Given the description of an element on the screen output the (x, y) to click on. 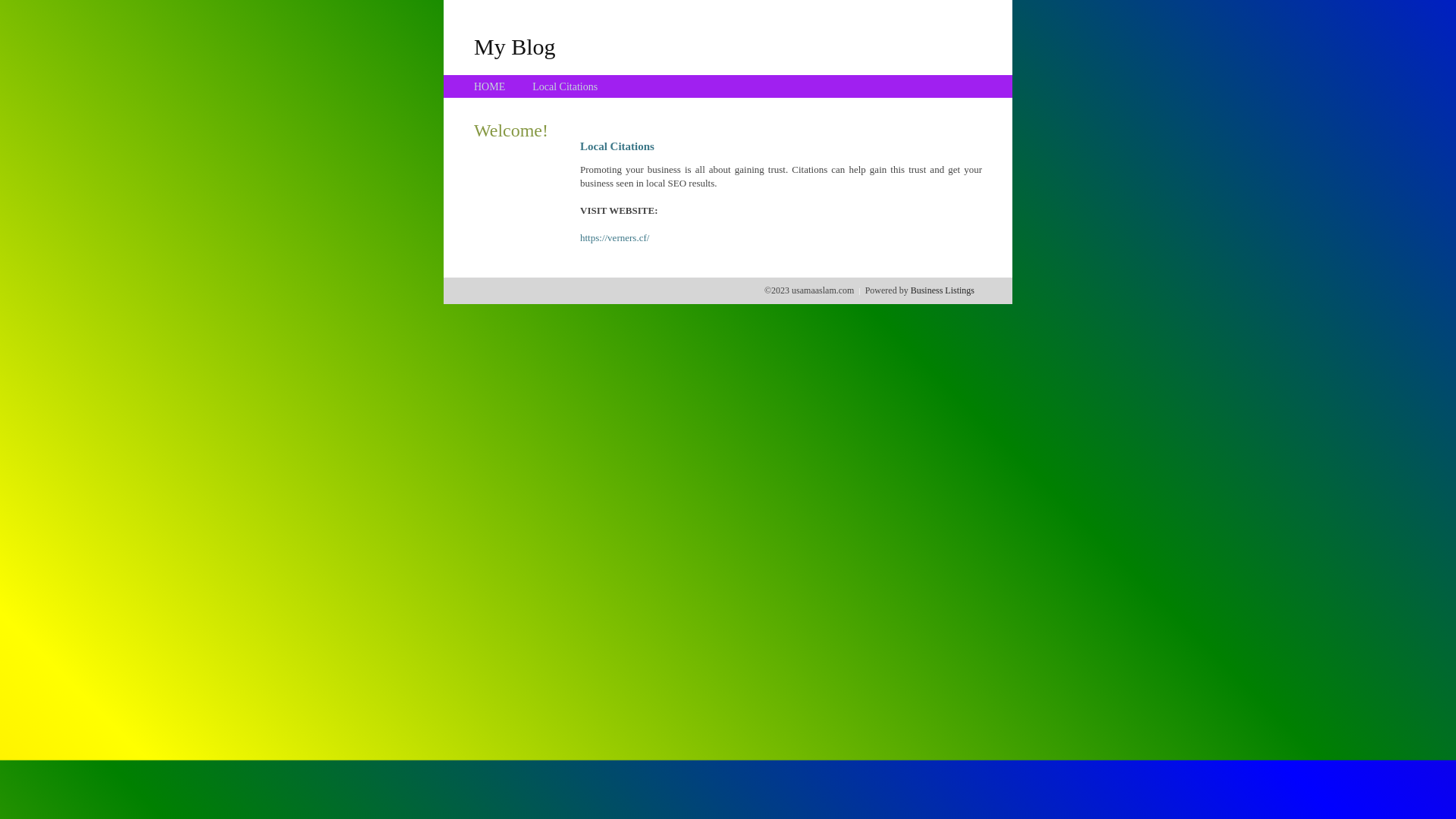
HOME Element type: text (489, 86)
https://verners.cf/ Element type: text (614, 237)
Business Listings Element type: text (942, 290)
Local Citations Element type: text (564, 86)
My Blog Element type: text (514, 46)
